Given the description of an element on the screen output the (x, y) to click on. 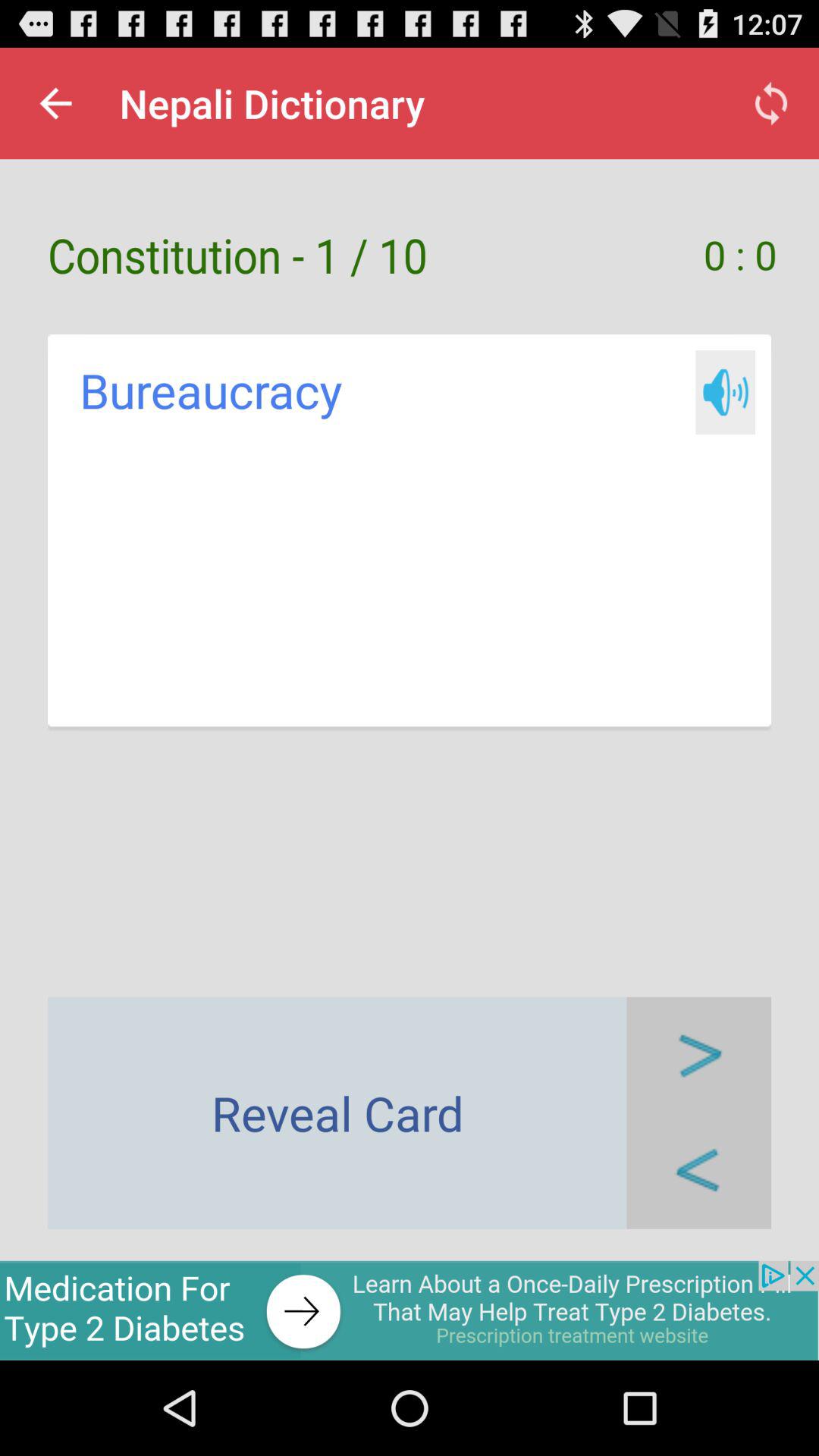
see advertisement (409, 1310)
